Given the description of an element on the screen output the (x, y) to click on. 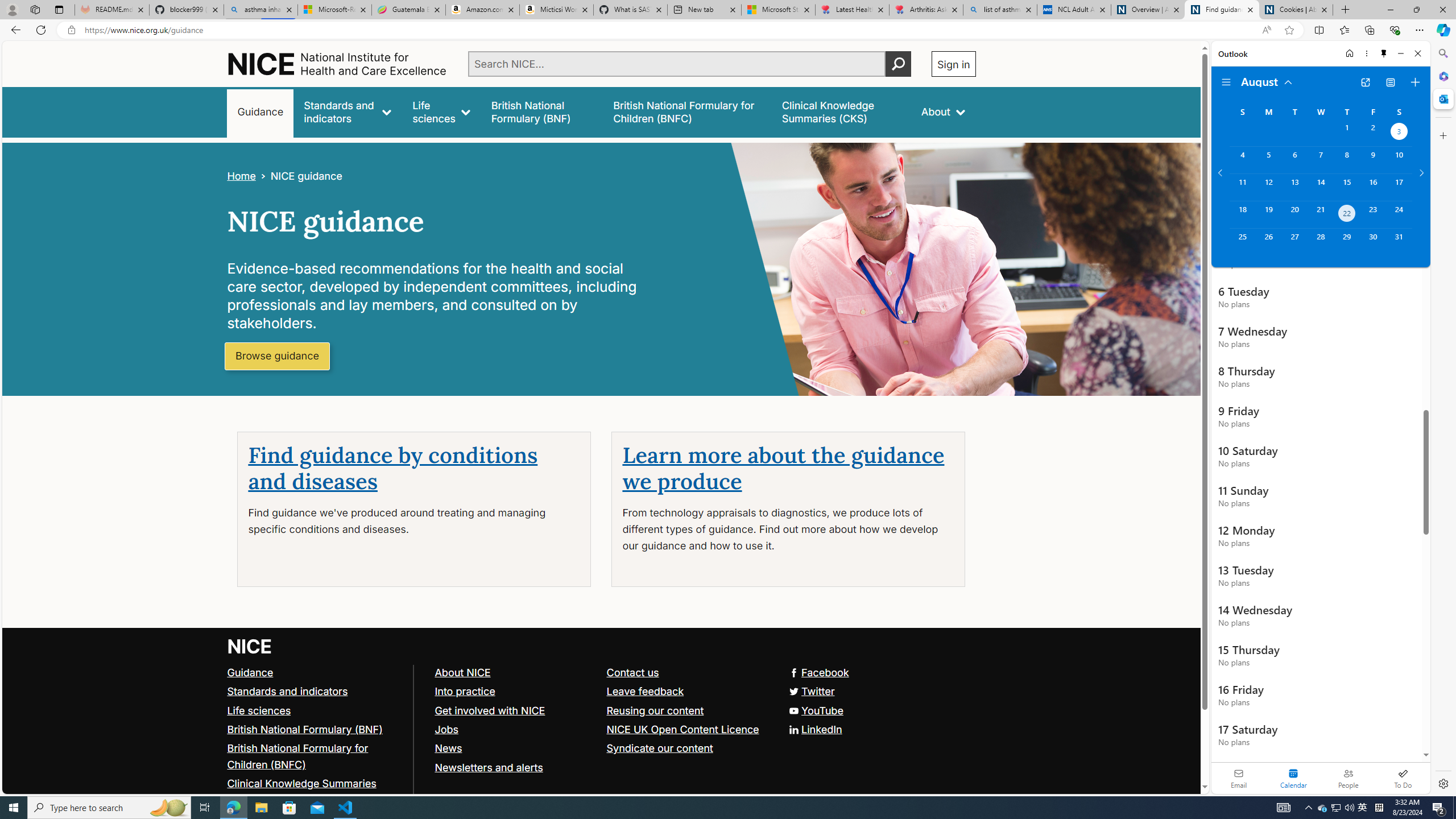
Learn more about the guidance we produce (782, 468)
Life sciences (259, 710)
Sunday, August 18, 2024.  (1242, 214)
Get involved with NICE (489, 710)
Contact us (686, 672)
LinkedIn (815, 729)
Into practice (514, 691)
Monday, August 26, 2024.  (1268, 241)
Facebook (817, 671)
